Given the description of an element on the screen output the (x, y) to click on. 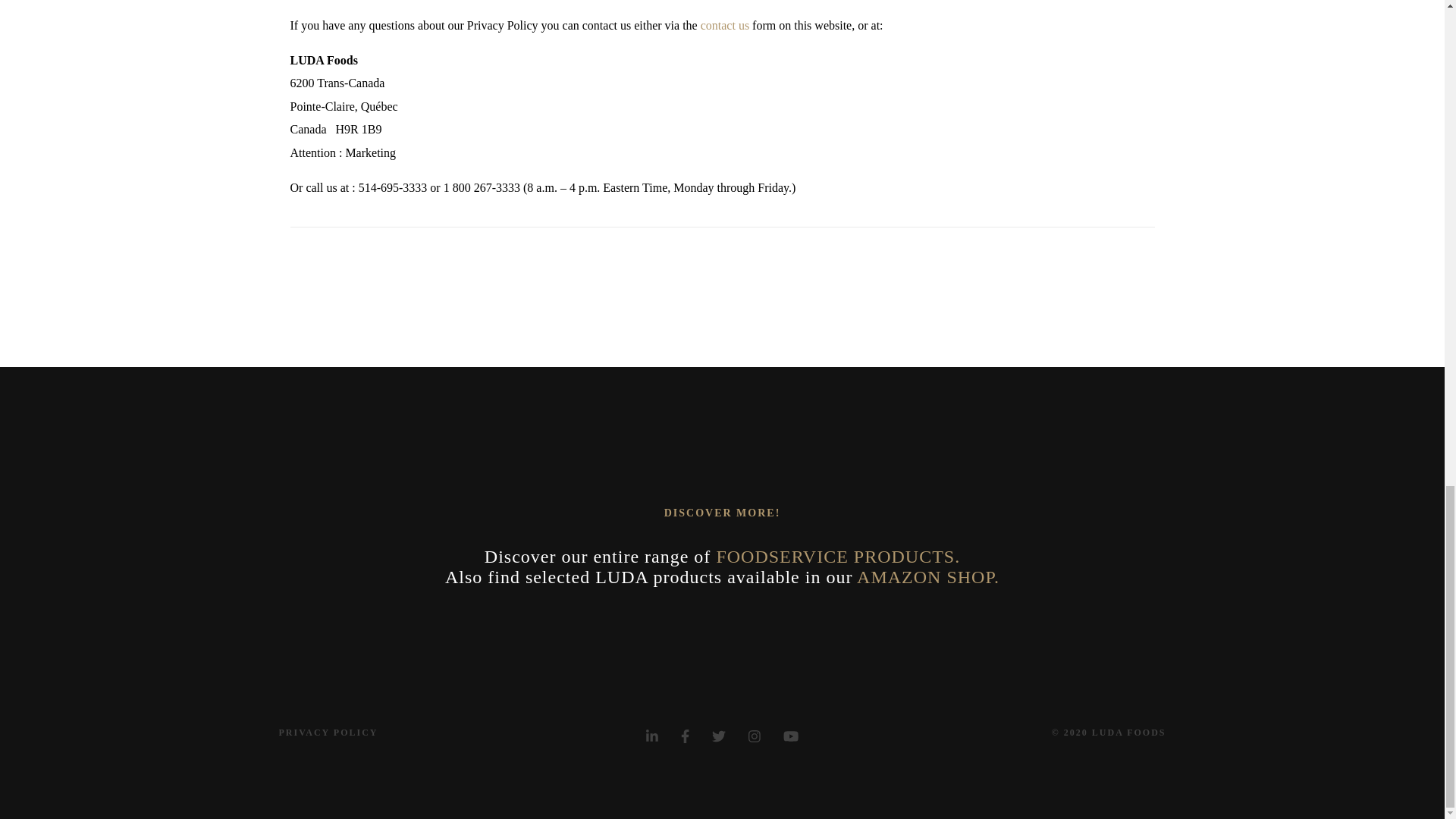
PRIVACY POLICY (328, 732)
contact us (724, 24)
FOODSERVICE PRODUCTS. (837, 556)
AMAZON SHOP. (927, 577)
